Given the description of an element on the screen output the (x, y) to click on. 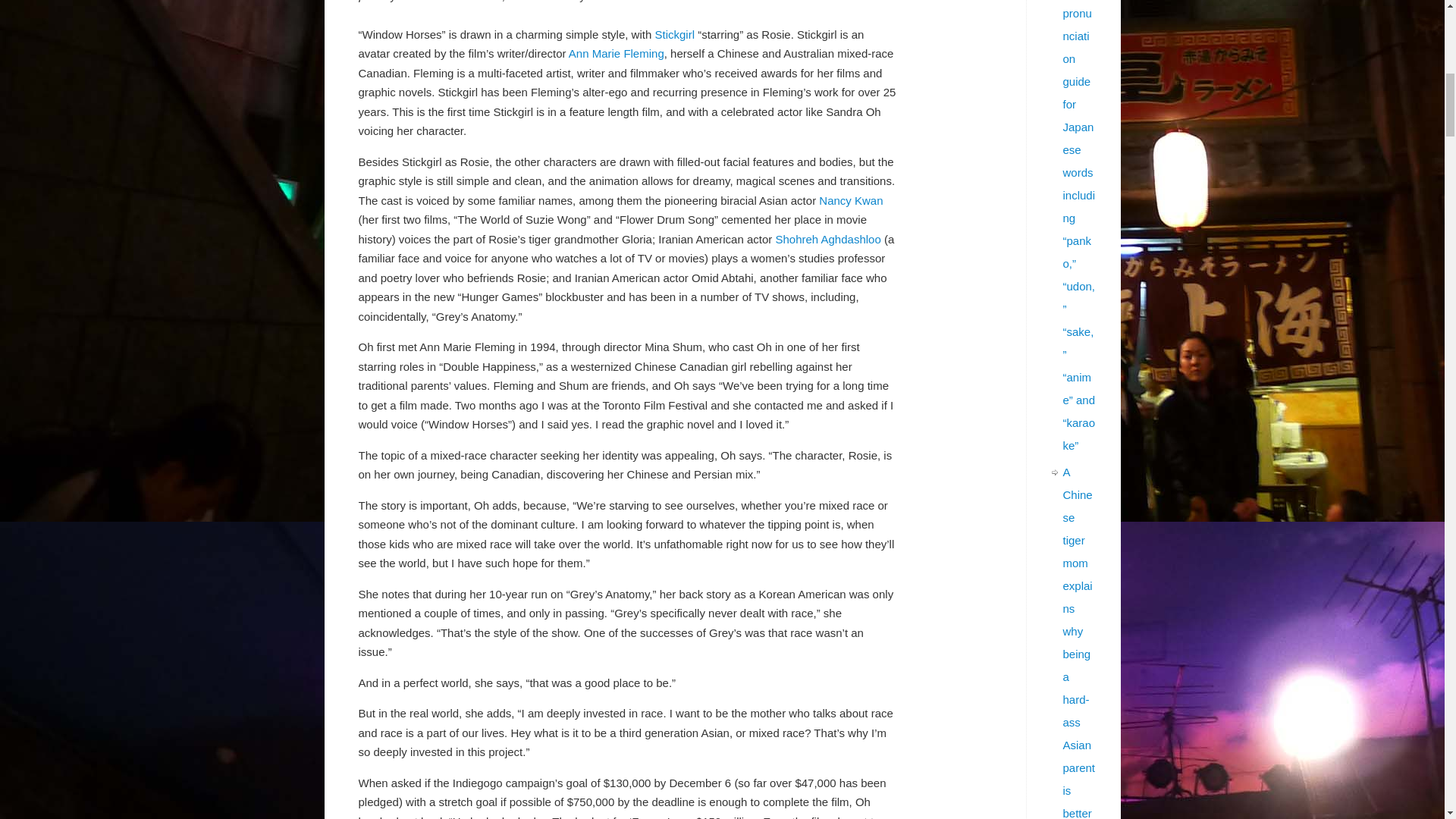
Nancy Kwan (850, 200)
Shohreh Aghdashloo (827, 238)
Ann Marie Fleming (616, 52)
Stickgirl (673, 33)
